Given the description of an element on the screen output the (x, y) to click on. 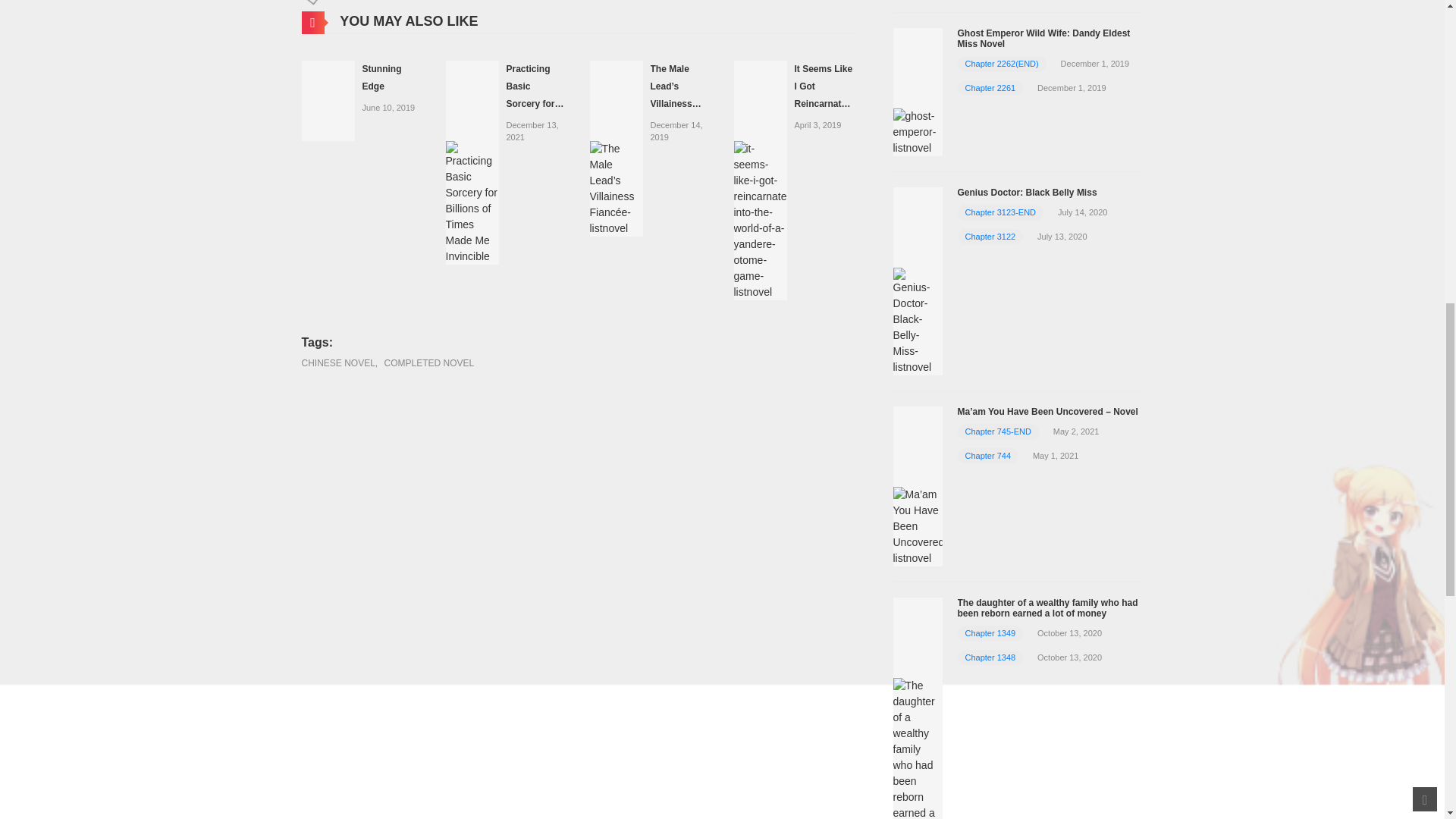
Ghost Emperor Wild Wife: Dandy Eldest Miss Novel (917, 91)
Genius Doctor: Black Belly Miss (917, 279)
Stunning Edge (328, 100)
Stunning Edge (381, 77)
Ghost Emperor Wild Wife: Dandy Eldest Miss Novel (1042, 38)
